Given the description of an element on the screen output the (x, y) to click on. 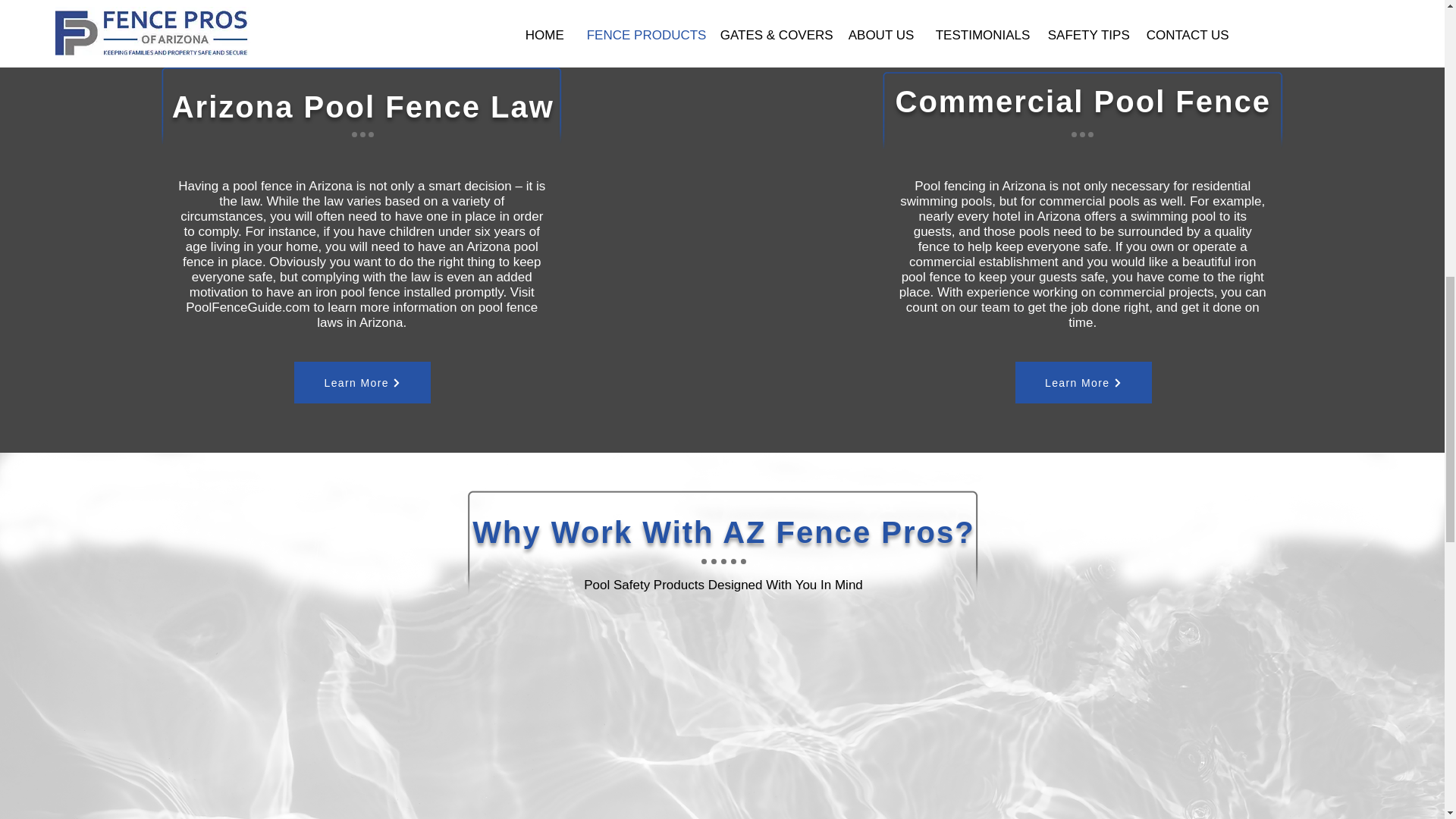
Learn More (1082, 382)
Learn More (362, 382)
